Given the description of an element on the screen output the (x, y) to click on. 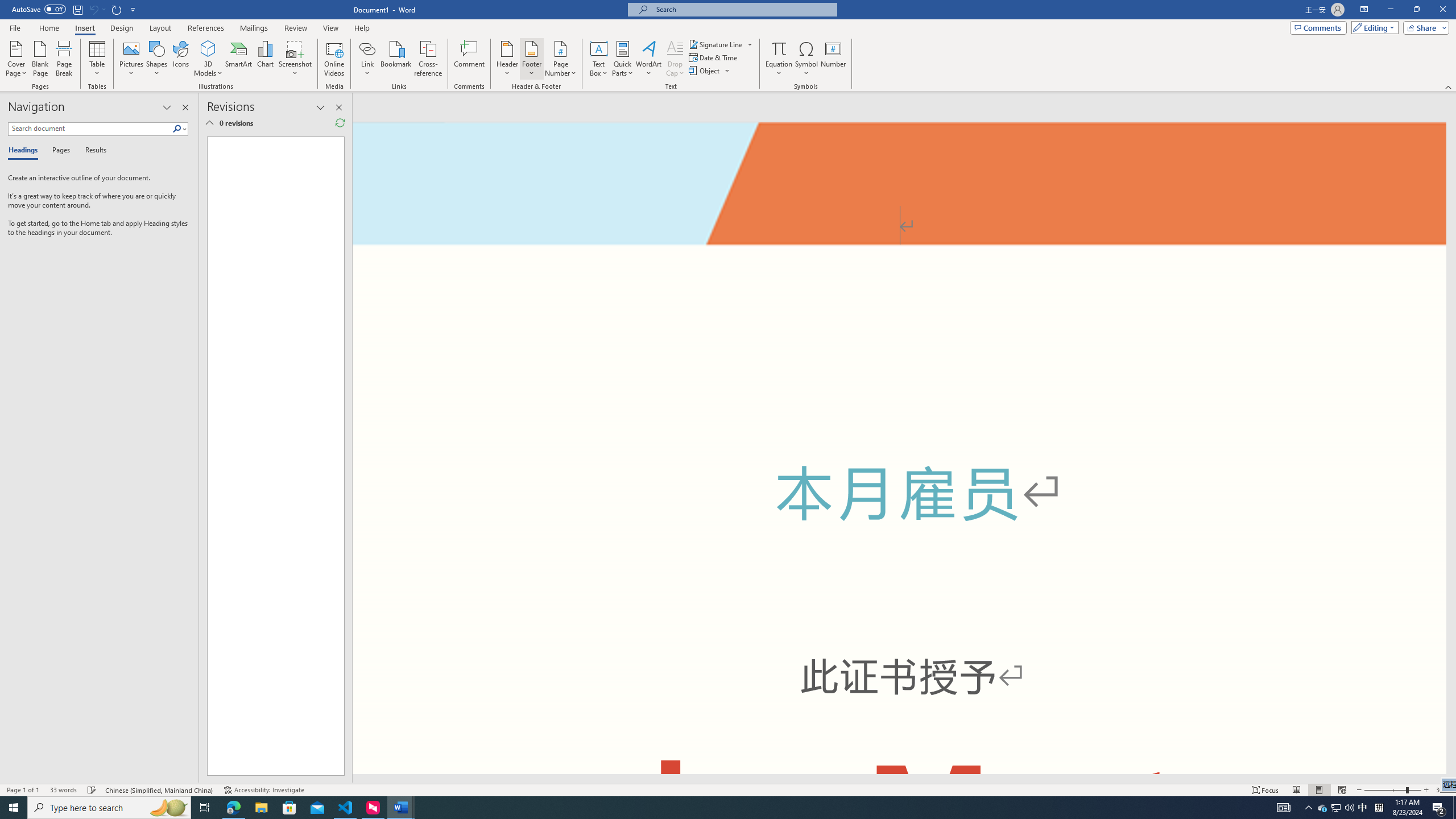
Signature Line (721, 44)
Can't Undo (96, 9)
Page Break (63, 58)
Cross-reference... (428, 58)
Online Videos... (333, 58)
